Given the description of an element on the screen output the (x, y) to click on. 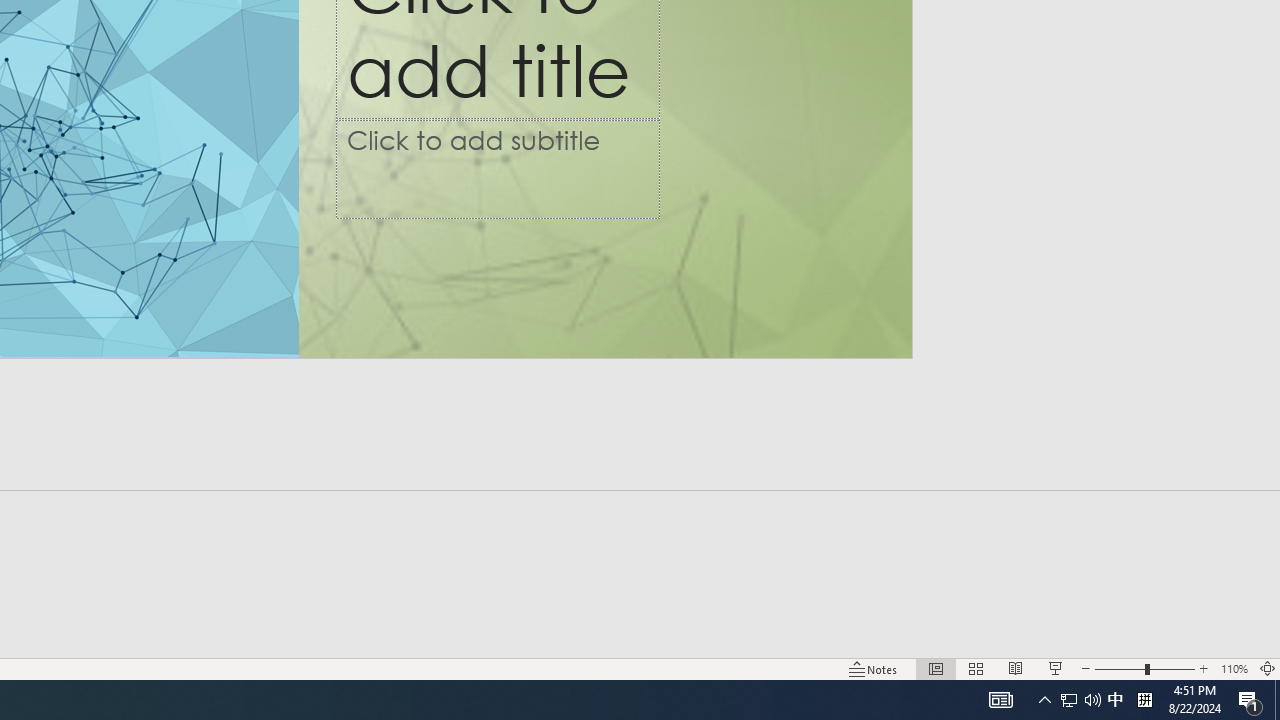
Zoom 110% (1234, 668)
